Given the description of an element on the screen output the (x, y) to click on. 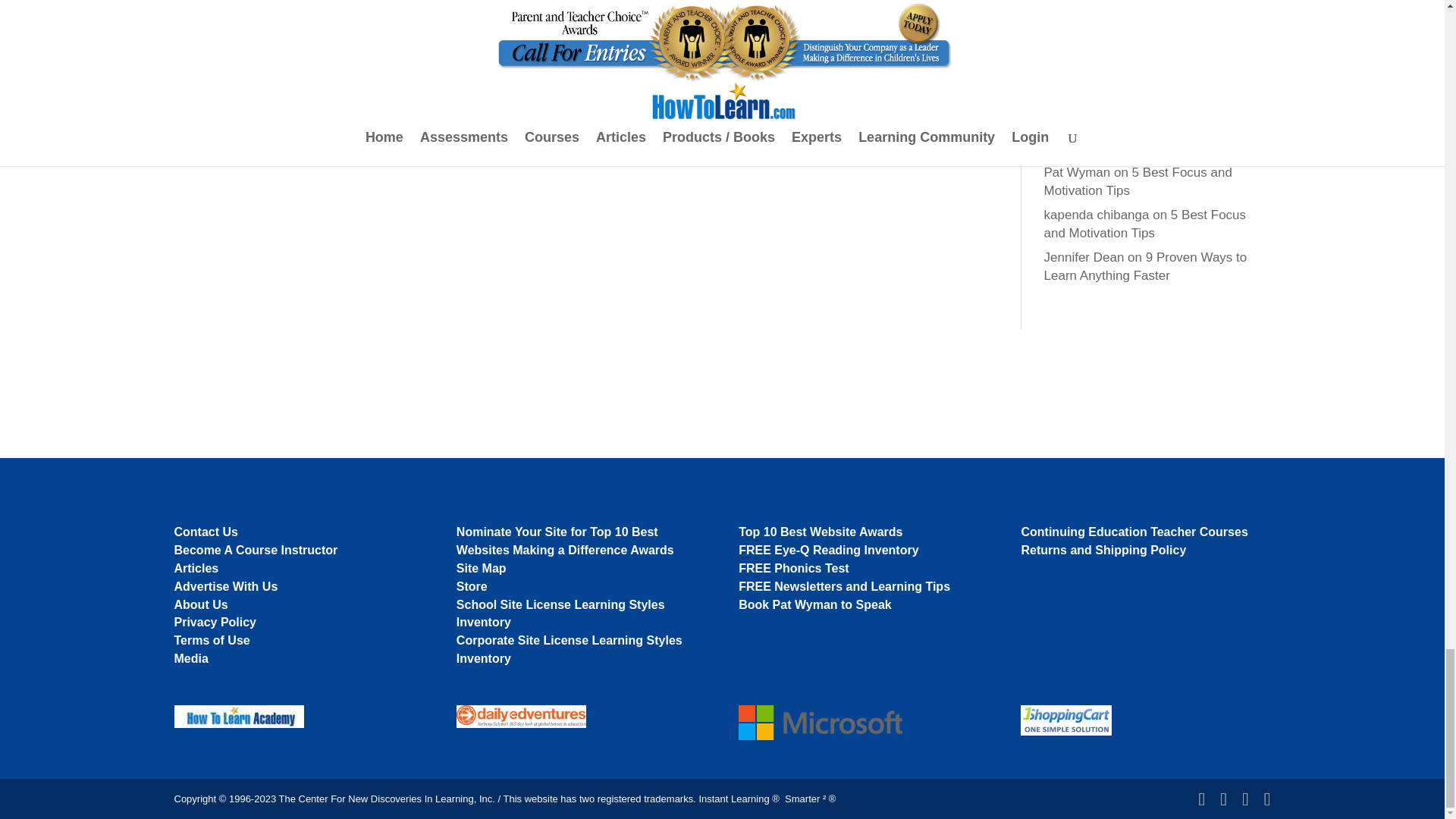
27 Education Storybook Activities to Improve Literacy (1146, 11)
How to Teach Spelling Using Phonics (1138, 96)
How to Tell If You Are an Employee or Entrepreneur (1146, 138)
